Given the description of an element on the screen output the (x, y) to click on. 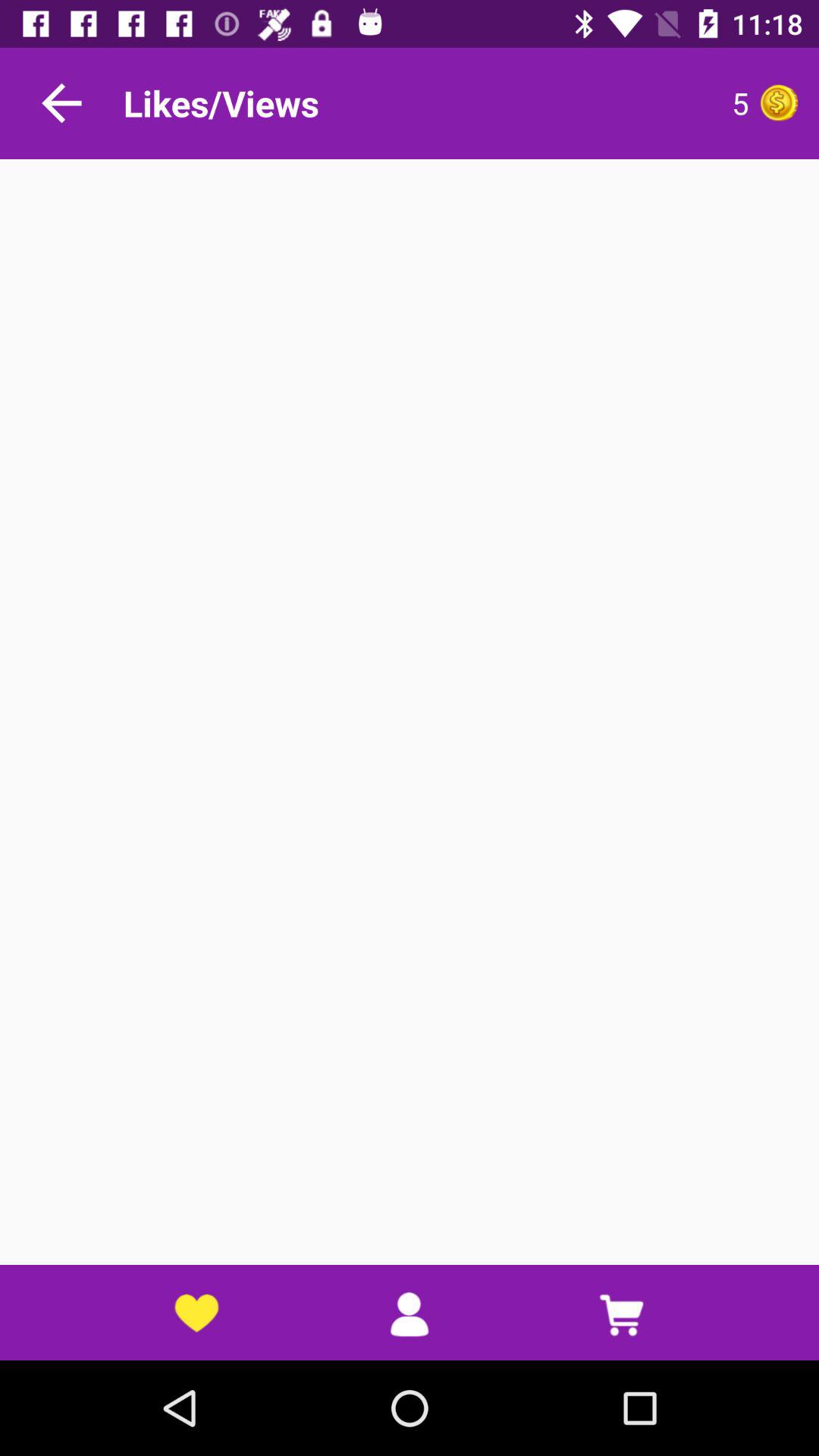
tap the item next to likes/views icon (603, 102)
